Given the description of an element on the screen output the (x, y) to click on. 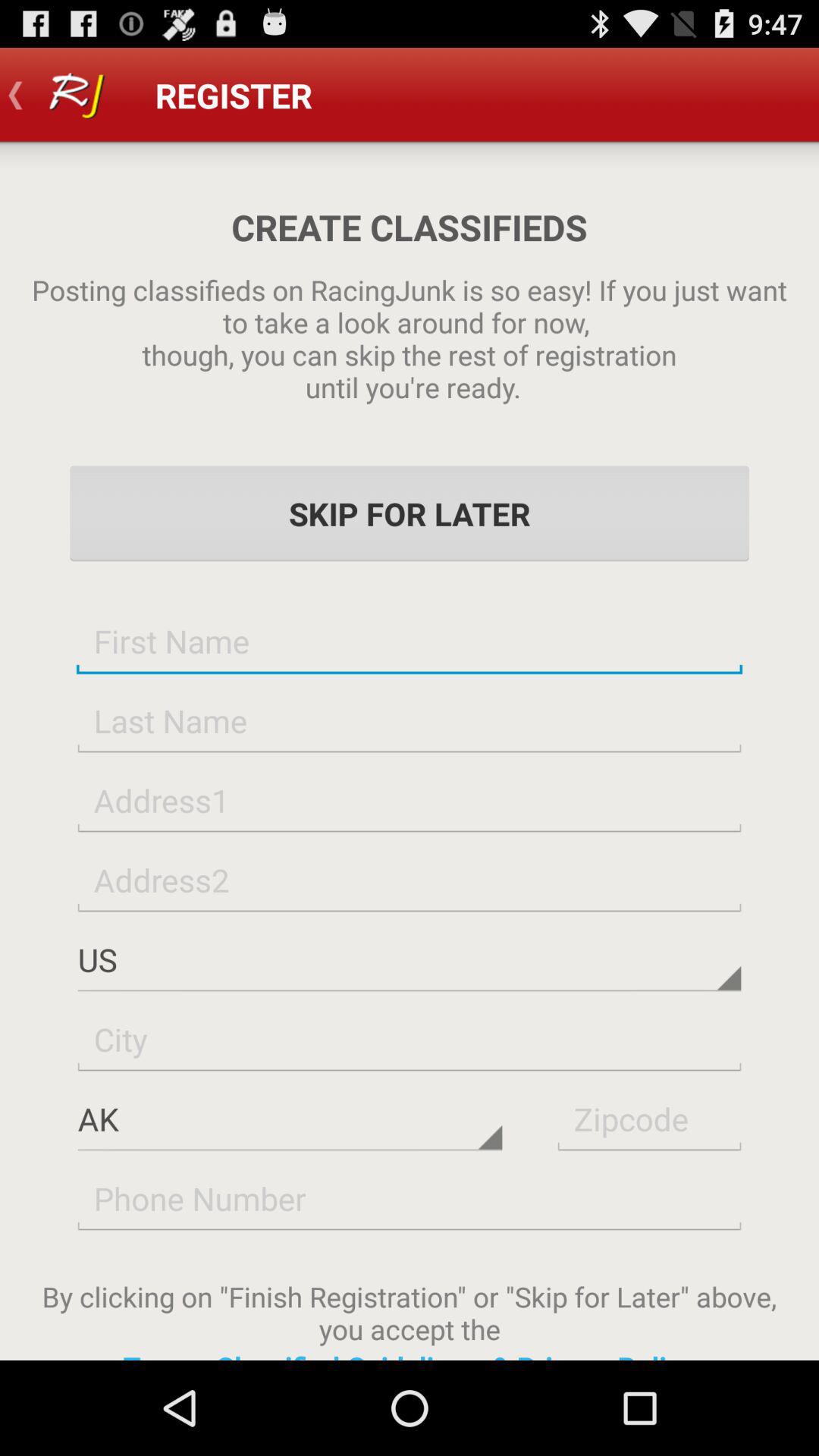
fill in the phone number (409, 1198)
